Given the description of an element on the screen output the (x, y) to click on. 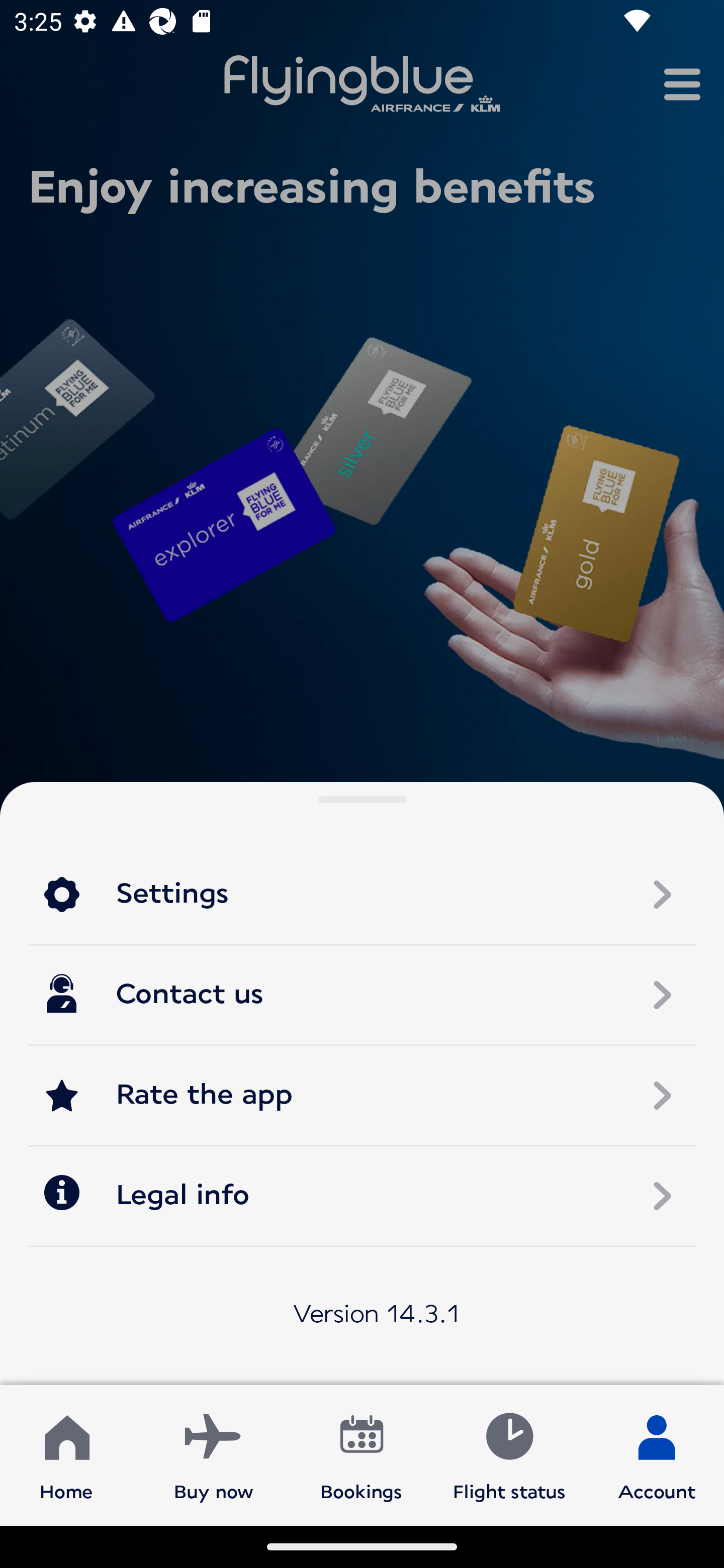
Settings (361, 894)
Contact us (361, 994)
Rate the app (361, 1094)
Legal info (361, 1195)
Home (66, 1454)
Buy now (213, 1454)
Bookings (361, 1454)
Flight status (509, 1454)
